Given the description of an element on the screen output the (x, y) to click on. 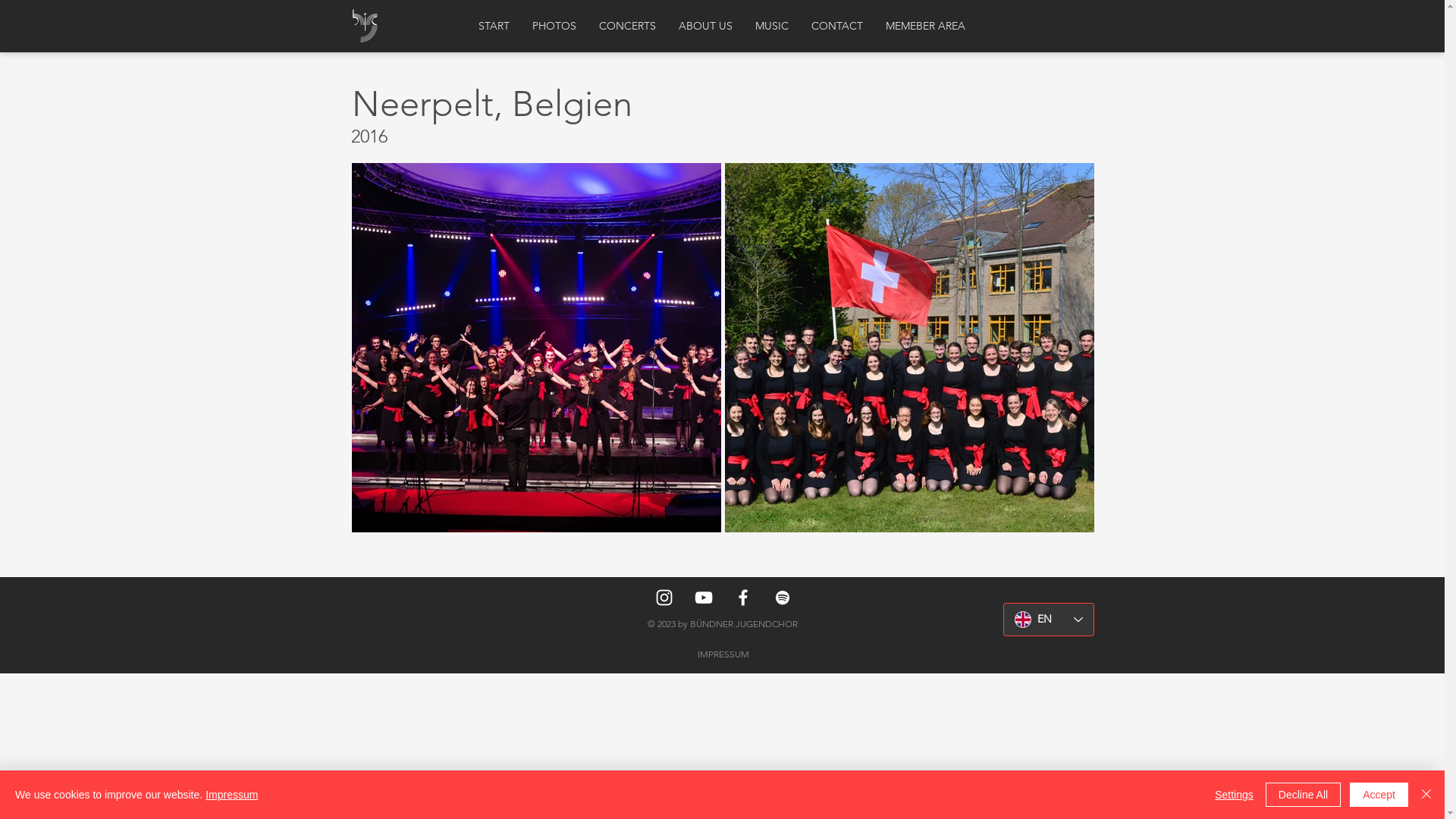
MUSIC Element type: text (771, 26)
Decline All Element type: text (1302, 794)
MEMEBER AREA Element type: text (925, 26)
ABOUT US Element type: text (705, 26)
START Element type: text (493, 26)
CONCERTS Element type: text (627, 26)
Impressum Element type: text (231, 794)
PHOTOS Element type: text (553, 26)
IMPRESSUM Element type: text (723, 653)
Accept Element type: text (1378, 794)
CONTACT Element type: text (837, 26)
